Given the description of an element on the screen output the (x, y) to click on. 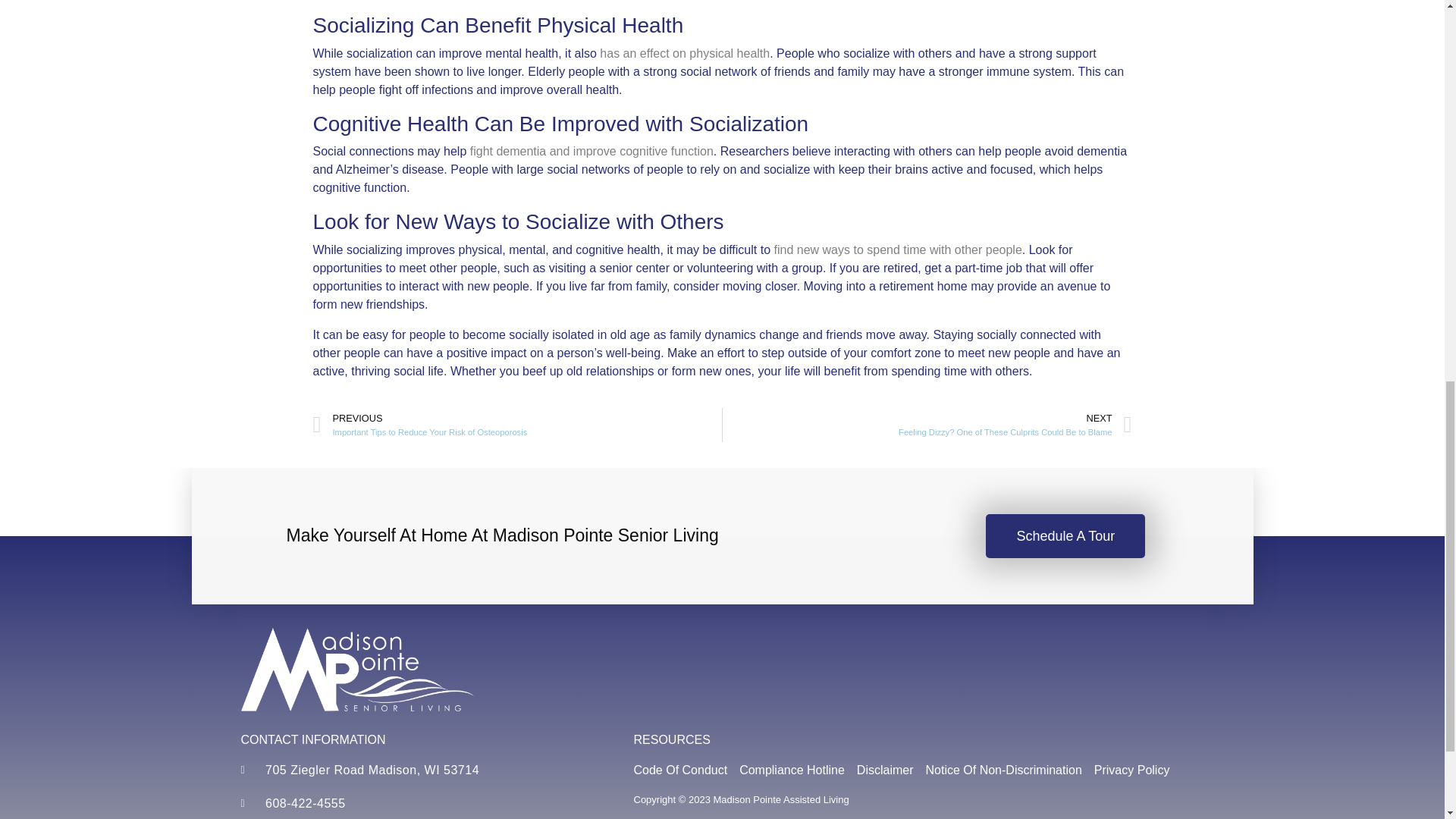
608-422-4555 (418, 803)
Privacy Policy (1132, 770)
has an effect on physical health (684, 52)
find new ways to spend time with other people (927, 424)
Notice Of Non-Discrimination (897, 249)
705 Ziegler Road Madison, WI 53714 (517, 424)
Code Of Conduct (1003, 770)
Disclaimer (418, 770)
